Given the description of an element on the screen output the (x, y) to click on. 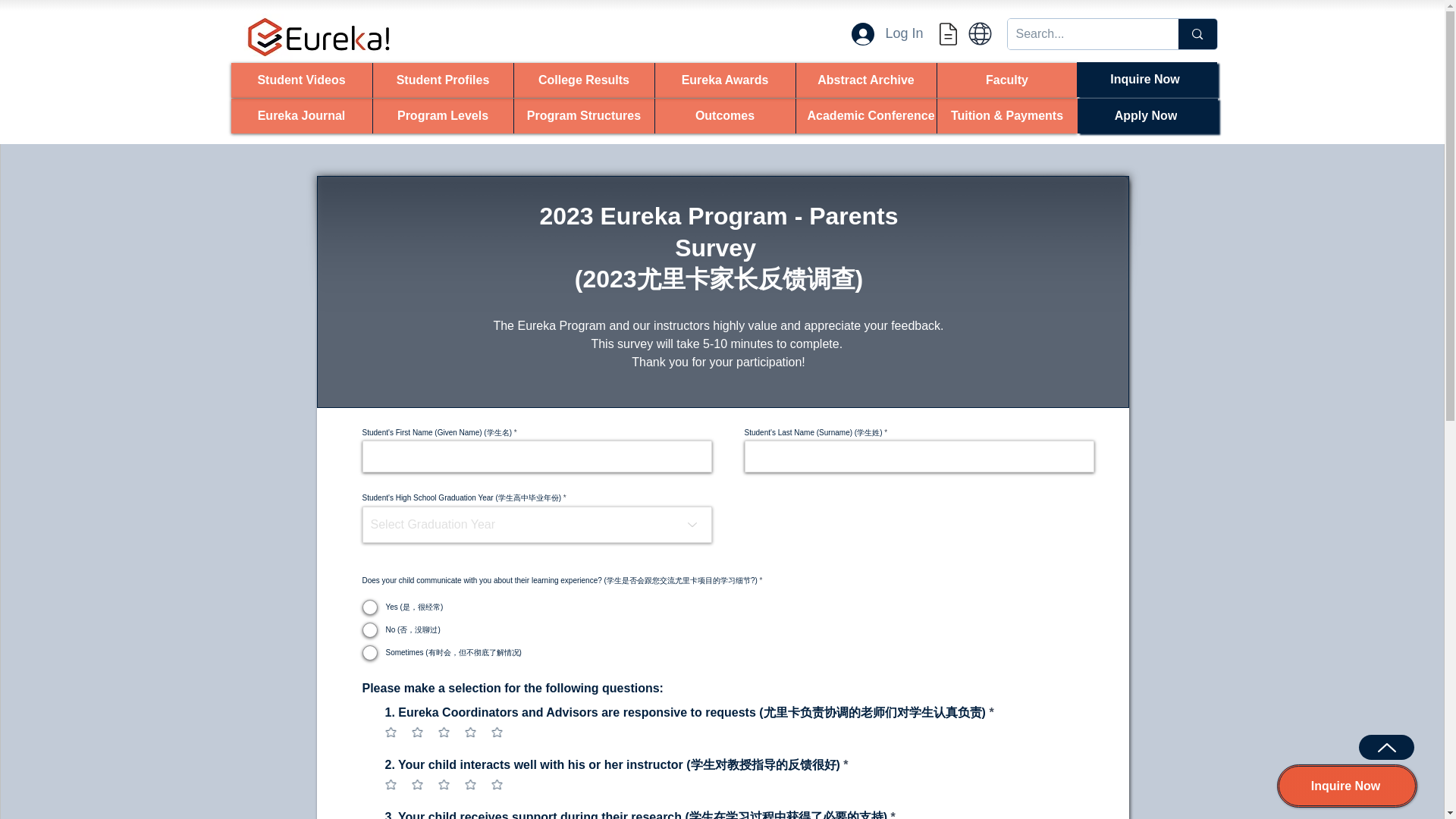
Apply Now (1147, 115)
Eureka Awards (723, 80)
Inquire Now (1346, 785)
Abstract Archive (865, 80)
Academic Conference (865, 115)
Program Structures (582, 115)
Student Profiles (441, 80)
Eureka Journal (300, 115)
Outcomes (723, 115)
Inquire Now (1147, 79)
College Results (582, 80)
Log In (887, 33)
Program Levels (441, 115)
Faculty (1006, 80)
Student Videos (300, 80)
